Given the description of an element on the screen output the (x, y) to click on. 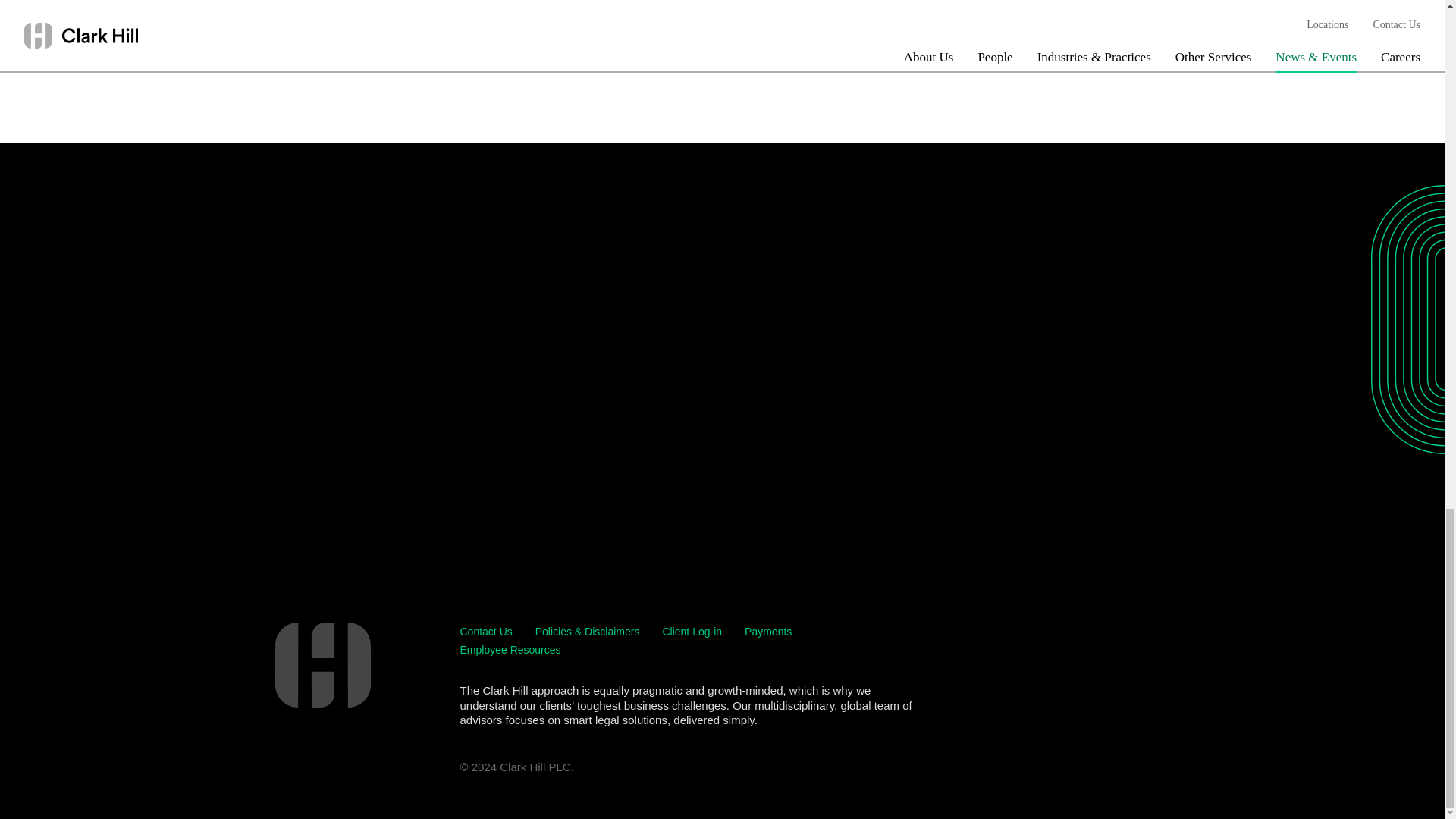
Client Log-in (692, 631)
Payments (768, 631)
Contact Us (486, 631)
Employee Resources (510, 649)
